Given the description of an element on the screen output the (x, y) to click on. 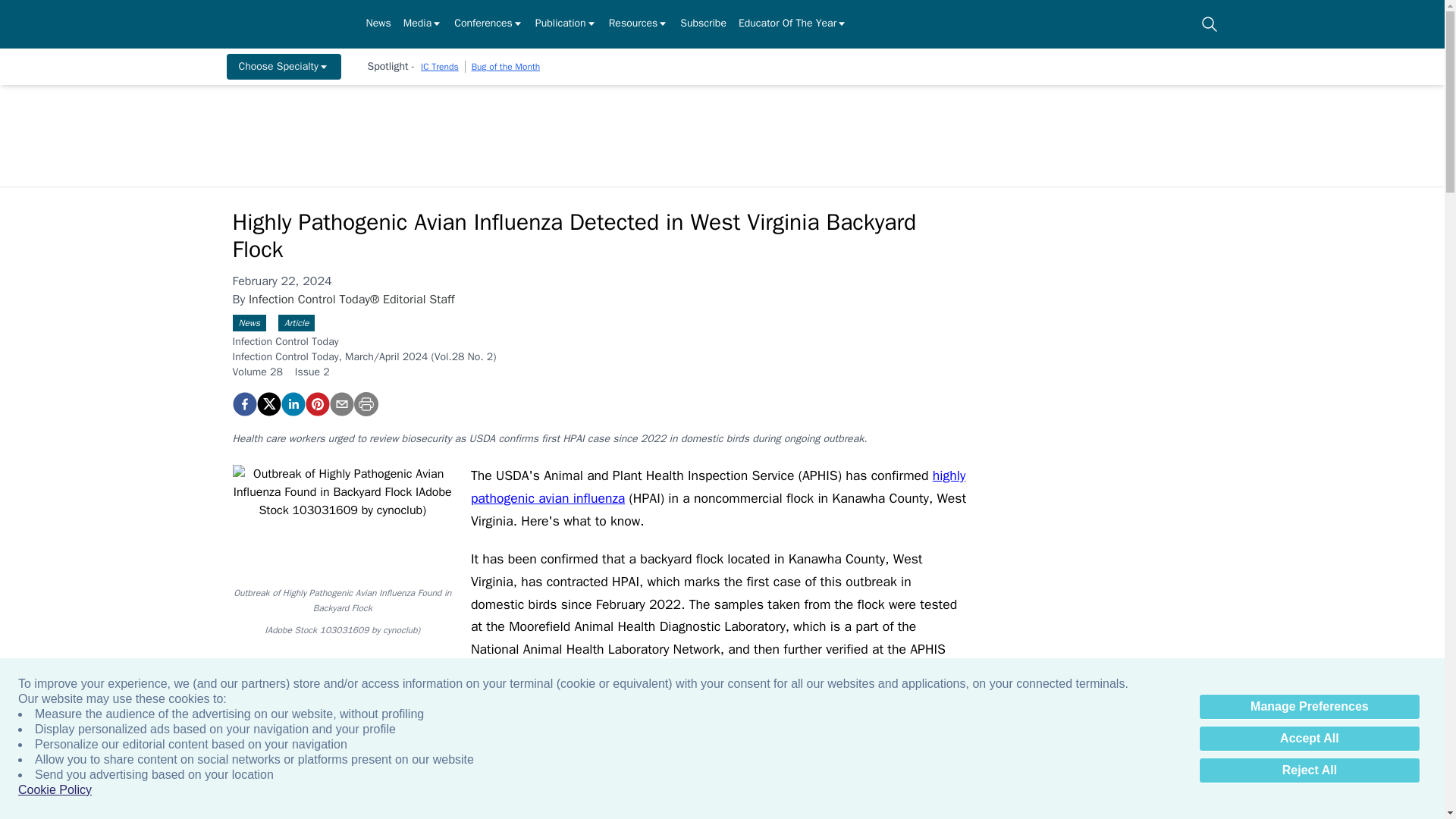
Resources (638, 23)
Conferences (488, 23)
Accept All (1309, 738)
Educator Of The Year (792, 23)
News (377, 23)
Publication (565, 23)
Manage Preferences (1309, 706)
Cookie Policy (54, 789)
Subscribe (702, 23)
Reject All (1309, 769)
